Given the description of an element on the screen output the (x, y) to click on. 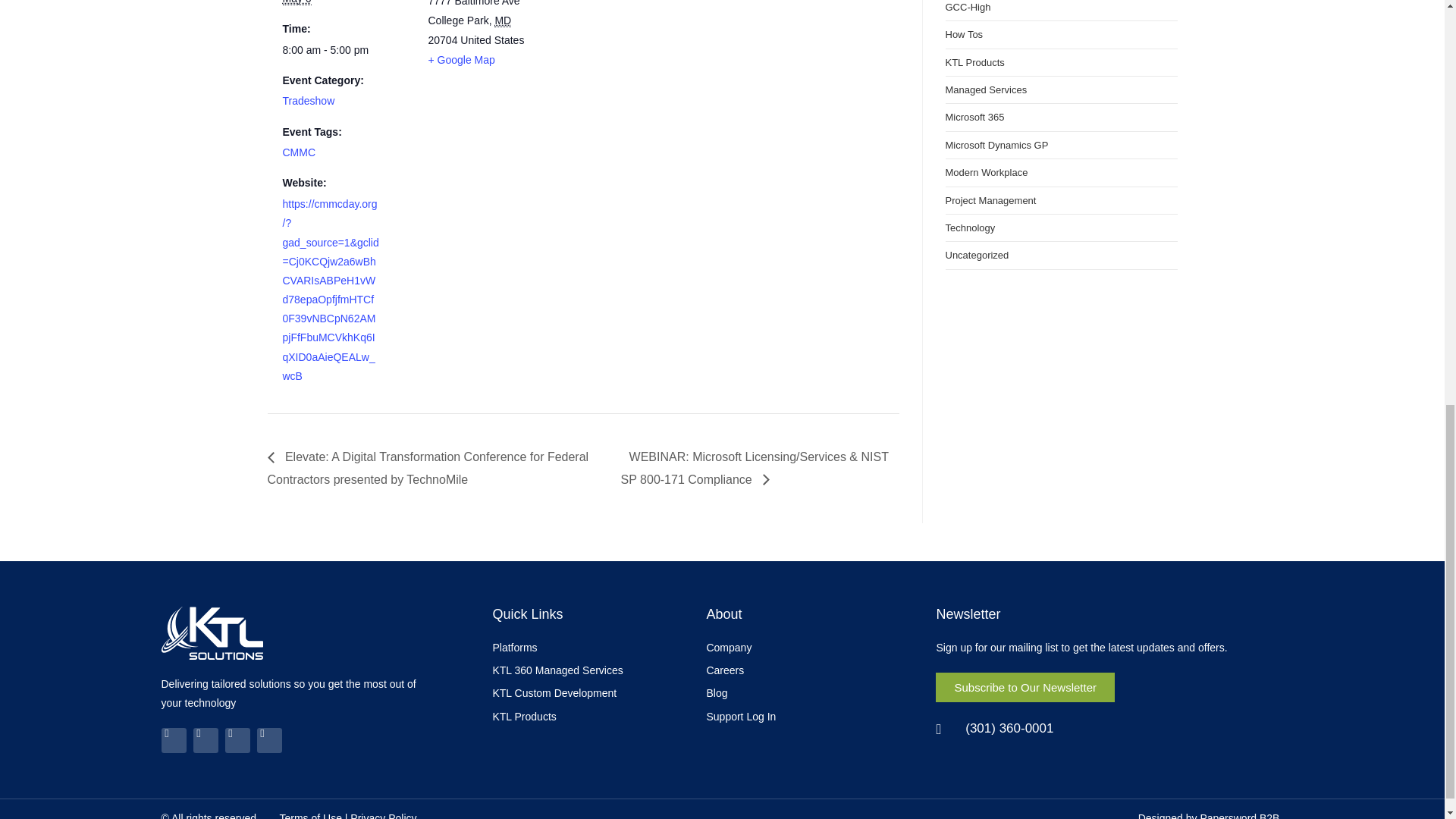
Maryland (503, 20)
2024-05-06 (330, 49)
Google maps iframe displaying the address to The Hotel UMD (637, 55)
Click to view a Google Map (461, 60)
2024-05-06 (296, 2)
